Given the description of an element on the screen output the (x, y) to click on. 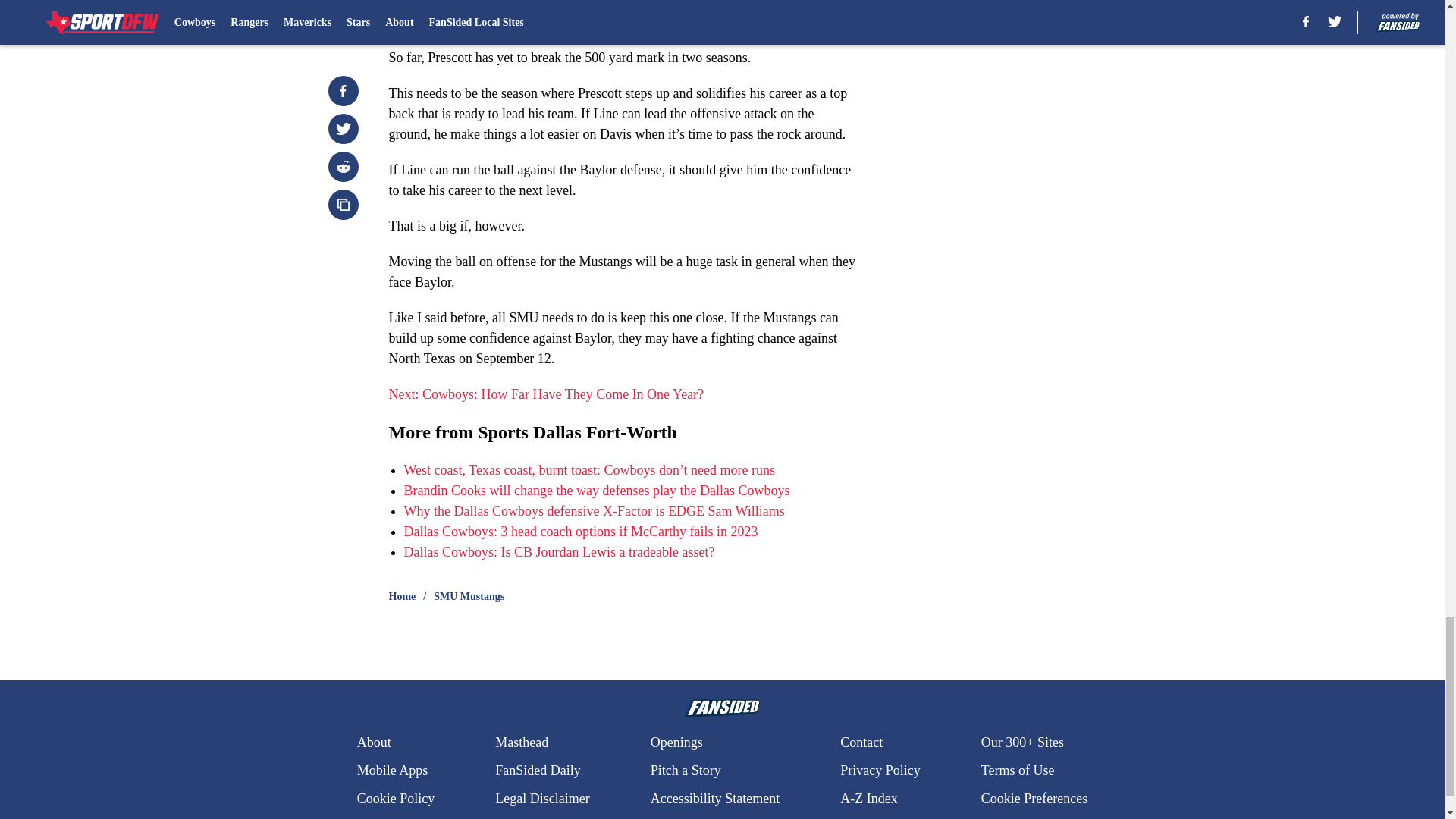
Dallas Cowboys: Is CB Jourdan Lewis a tradeable asset? (558, 551)
Next: Cowboys: How Far Have They Come In One Year? (545, 394)
